Given the description of an element on the screen output the (x, y) to click on. 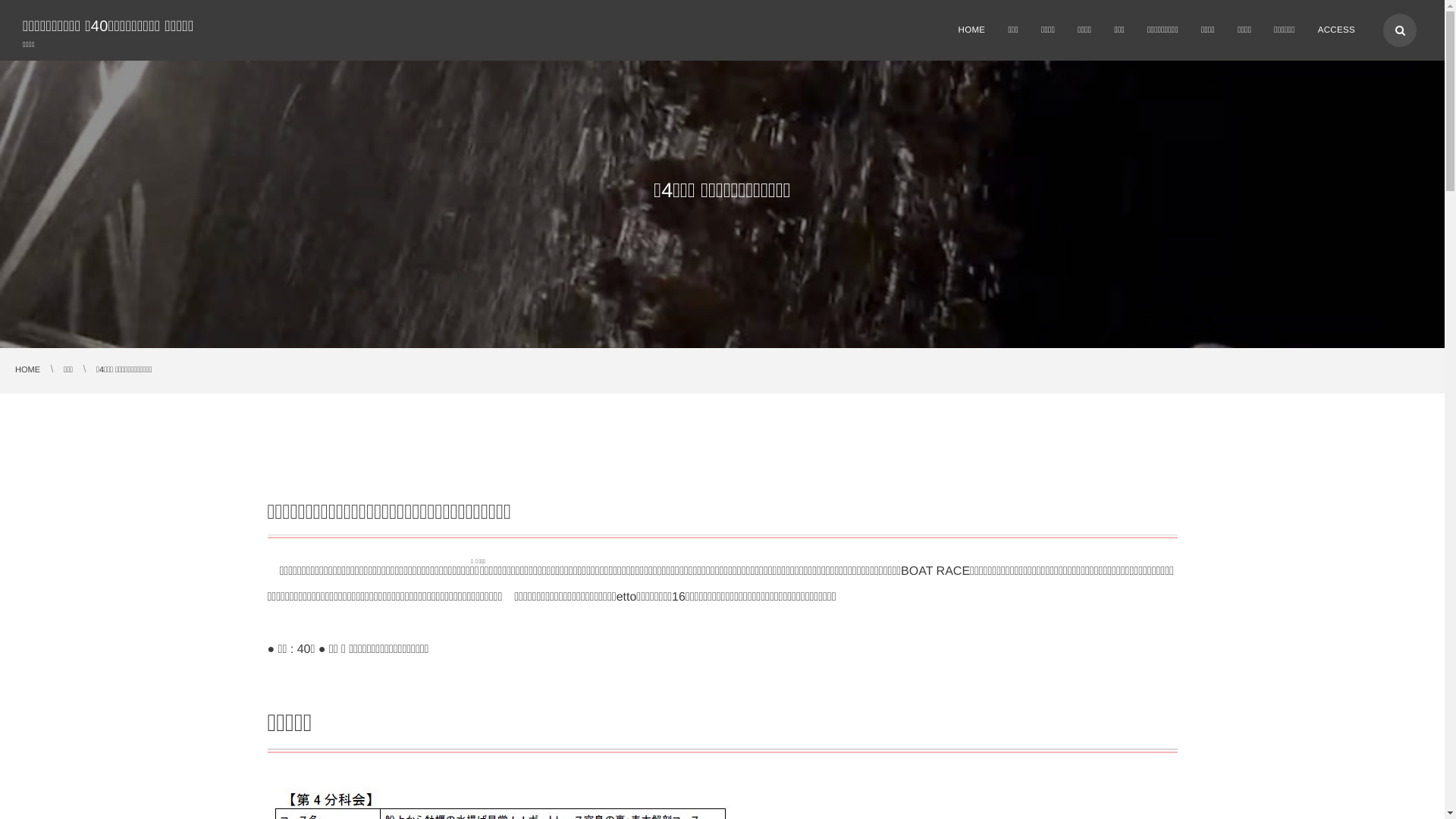
HOME Element type: text (27, 369)
HOME Element type: text (971, 30)
ACCESS Element type: text (1336, 30)
